Given the description of an element on the screen output the (x, y) to click on. 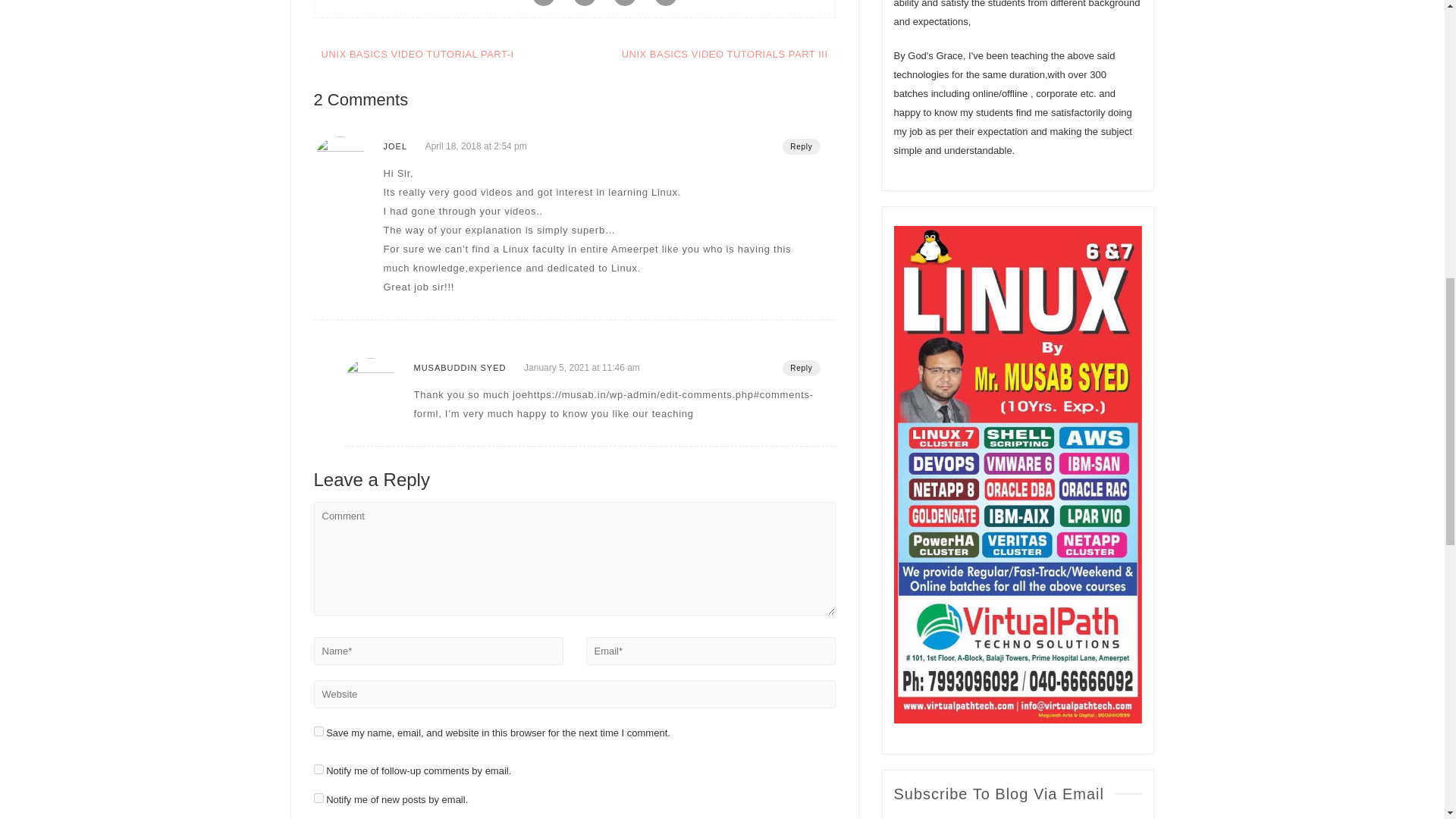
UNIX BASICS VIDEO TUTORIALS PART III (724, 53)
January 5, 2021 at 11:46 am (582, 367)
yes (318, 731)
April 18, 2018 at 2:54 pm (476, 145)
UNIX BASICS VIDEO TUTORIAL PART-I (417, 53)
subscribe (318, 768)
Reply (801, 145)
subscribe (318, 798)
Reply (801, 367)
